Given the description of an element on the screen output the (x, y) to click on. 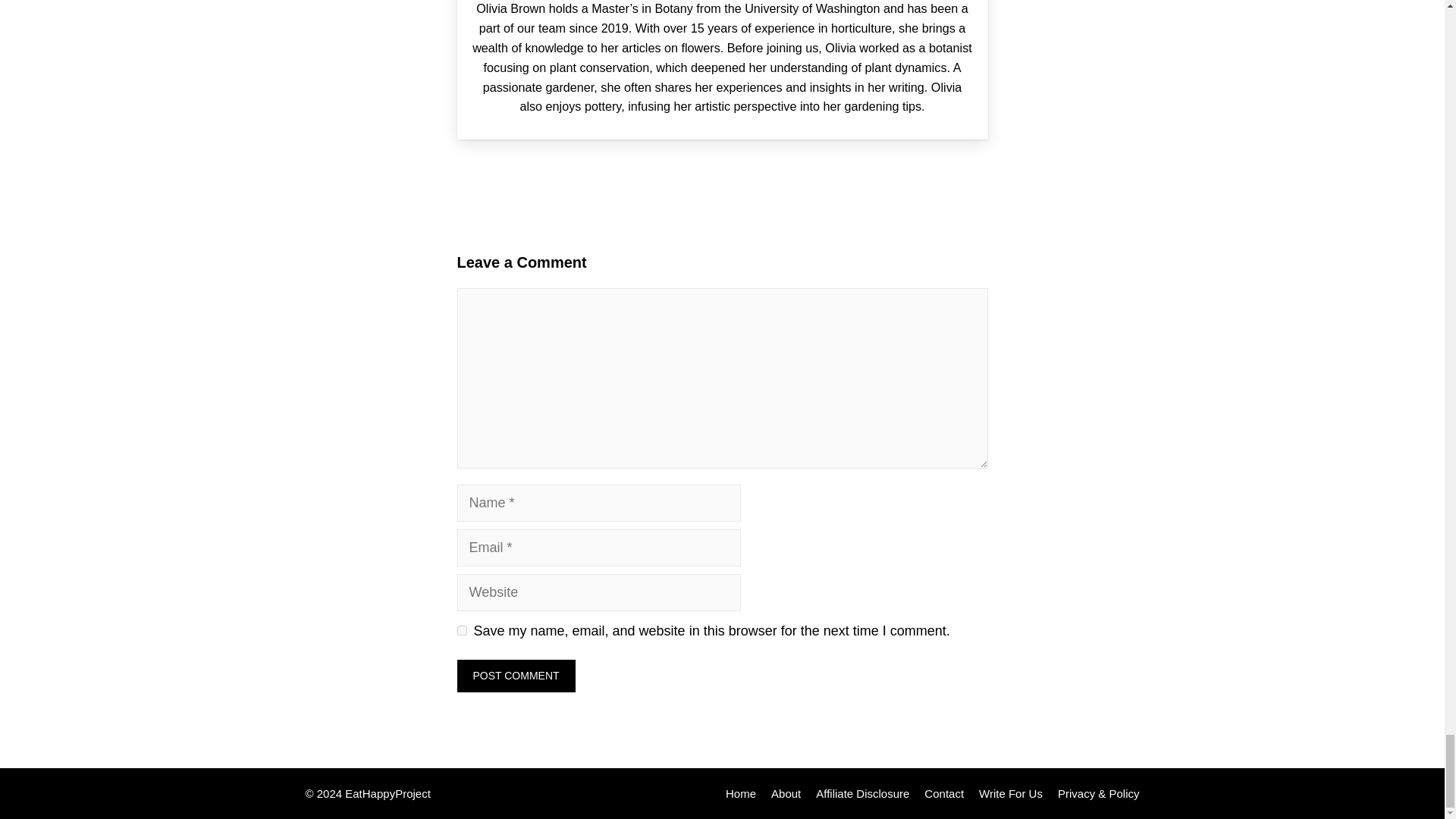
yes (461, 630)
Post Comment (516, 676)
